Given the description of an element on the screen output the (x, y) to click on. 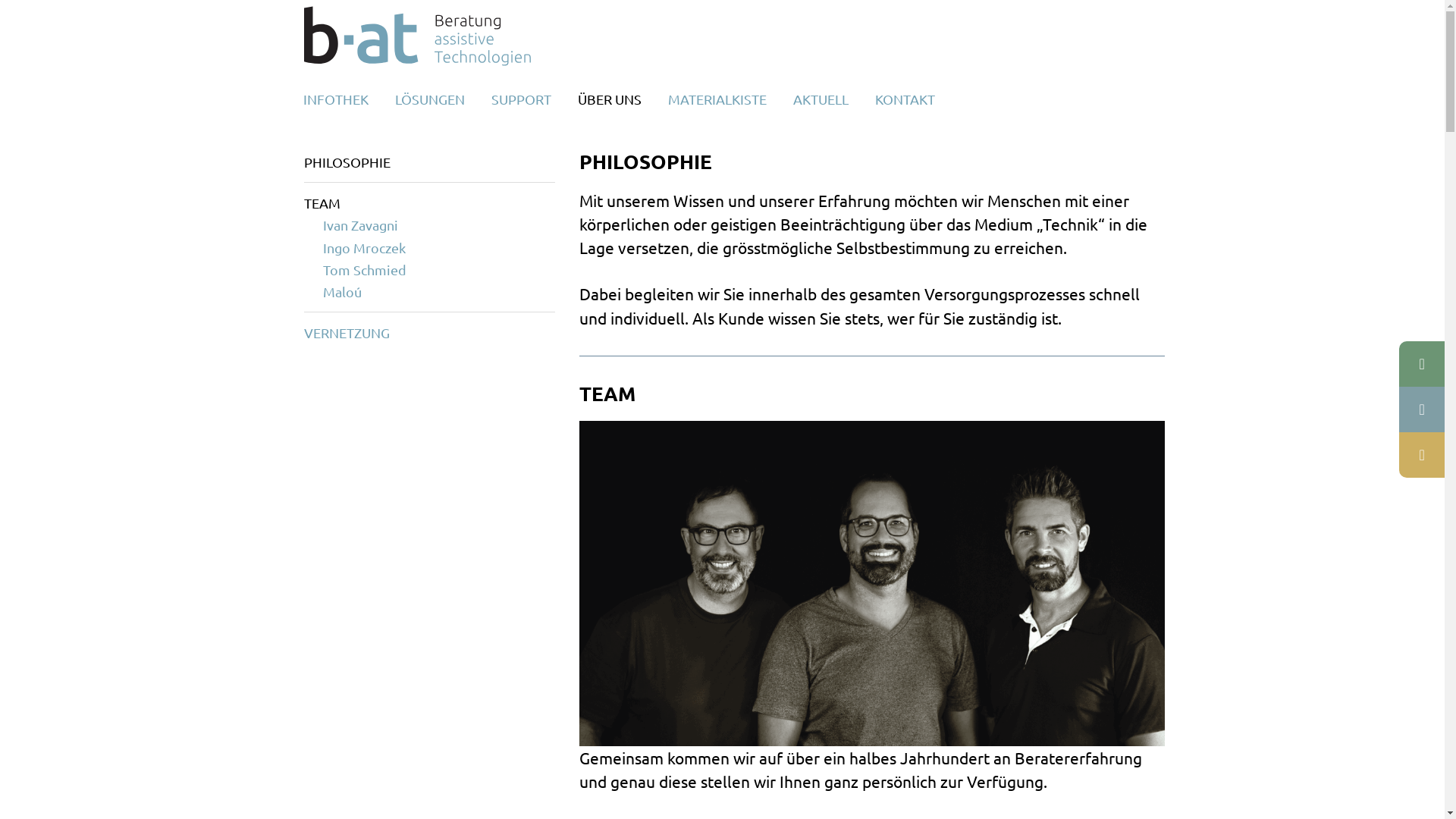
Ingo Mroczek Element type: text (364, 247)
info@b-at.ch Element type: hover (1421, 409)
/termin/ Element type: hover (1421, 454)
MATERIALKISTE Element type: text (717, 99)
Tom Schmied Element type: text (364, 269)
+41 44 597 50 55 Element type: hover (1421, 363)
Zur Hauptnavigation springen Element type: text (0, 0)
TEAM Element type: text (321, 202)
INFOTHEK Element type: text (335, 99)
PHILOSOPHIE Element type: text (346, 161)
Ivan Zavagni Element type: text (360, 224)
KONTAKT Element type: text (903, 99)
VERNETZUNG Element type: text (346, 332)
AKTUELL Element type: text (820, 99)
SUPPORT Element type: text (520, 99)
